Given the description of an element on the screen output the (x, y) to click on. 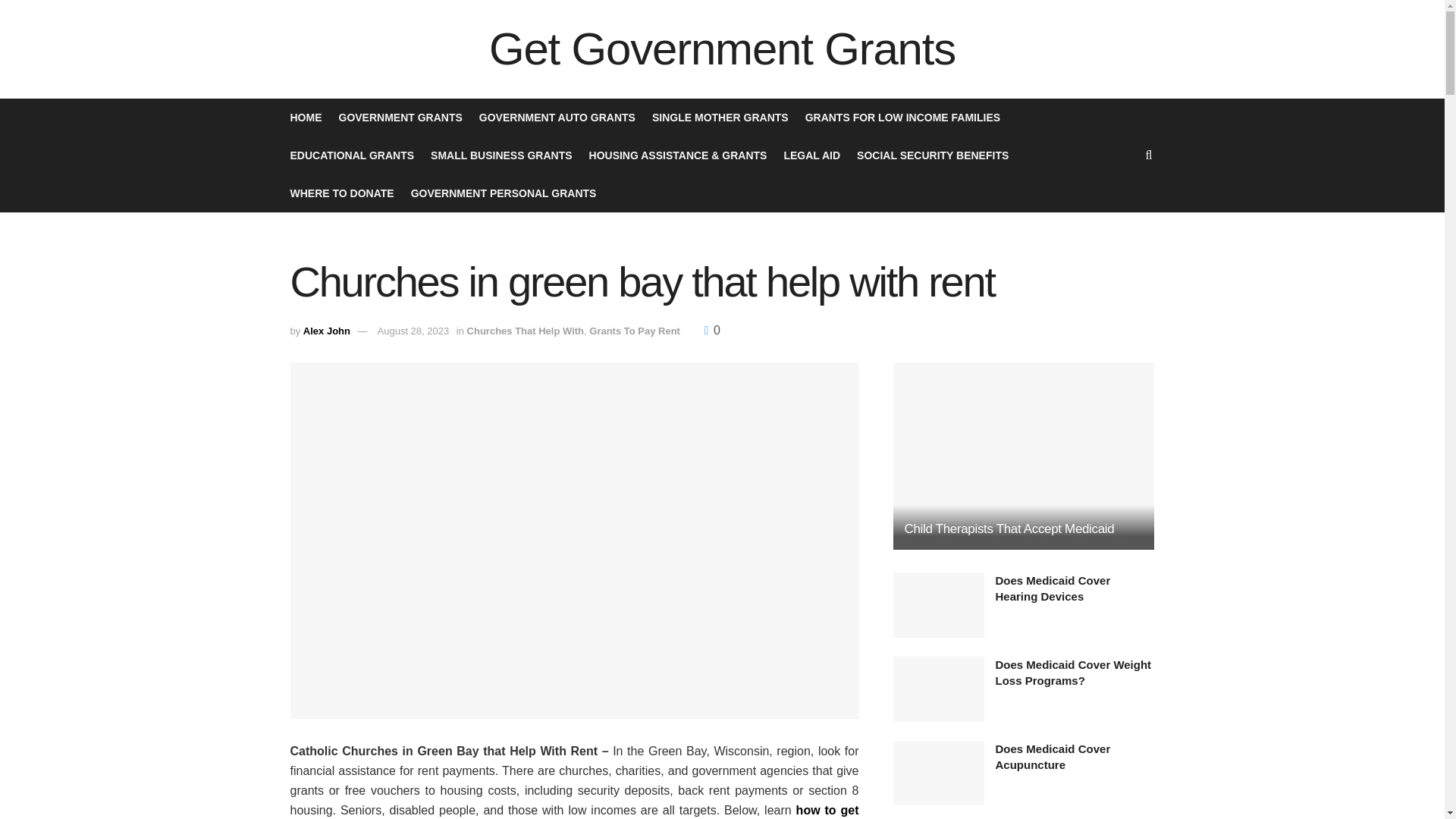
GRANTS FOR LOW INCOME FAMILIES (902, 117)
GOVERNMENT PERSONAL GRANTS (503, 192)
Get Government Grants (722, 49)
GOVERNMENT AUTO GRANTS (556, 117)
GOVERNMENT GRANTS (399, 117)
SOCIAL SECURITY BENEFITS (933, 155)
EDUCATIONAL GRANTS (351, 155)
LEGAL AID (811, 155)
HOME (305, 117)
SMALL BUSINESS GRANTS (501, 155)
